Given the description of an element on the screen output the (x, y) to click on. 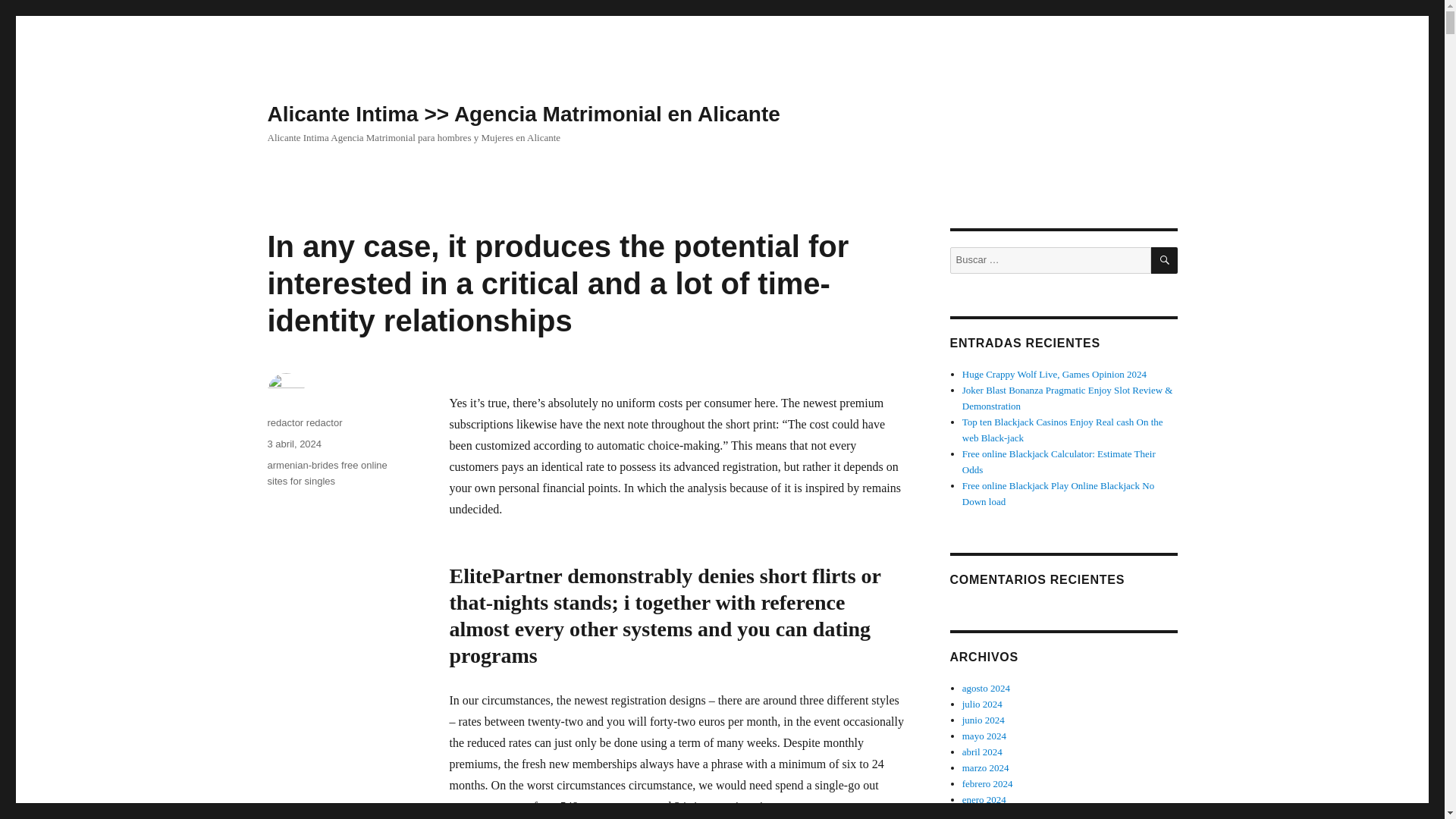
febrero 2024 (987, 783)
diciembre 2023 (992, 814)
marzo 2024 (985, 767)
julio 2024 (982, 704)
armenian-brides free online sites for singles (326, 472)
junio 2024 (983, 719)
enero 2024 (984, 799)
agosto 2024 (986, 687)
Huge Crappy Wolf Live, Games Opinion 2024 (1054, 374)
Free online Blackjack Calculator: Estimate Their Odds (1059, 461)
